Given the description of an element on the screen output the (x, y) to click on. 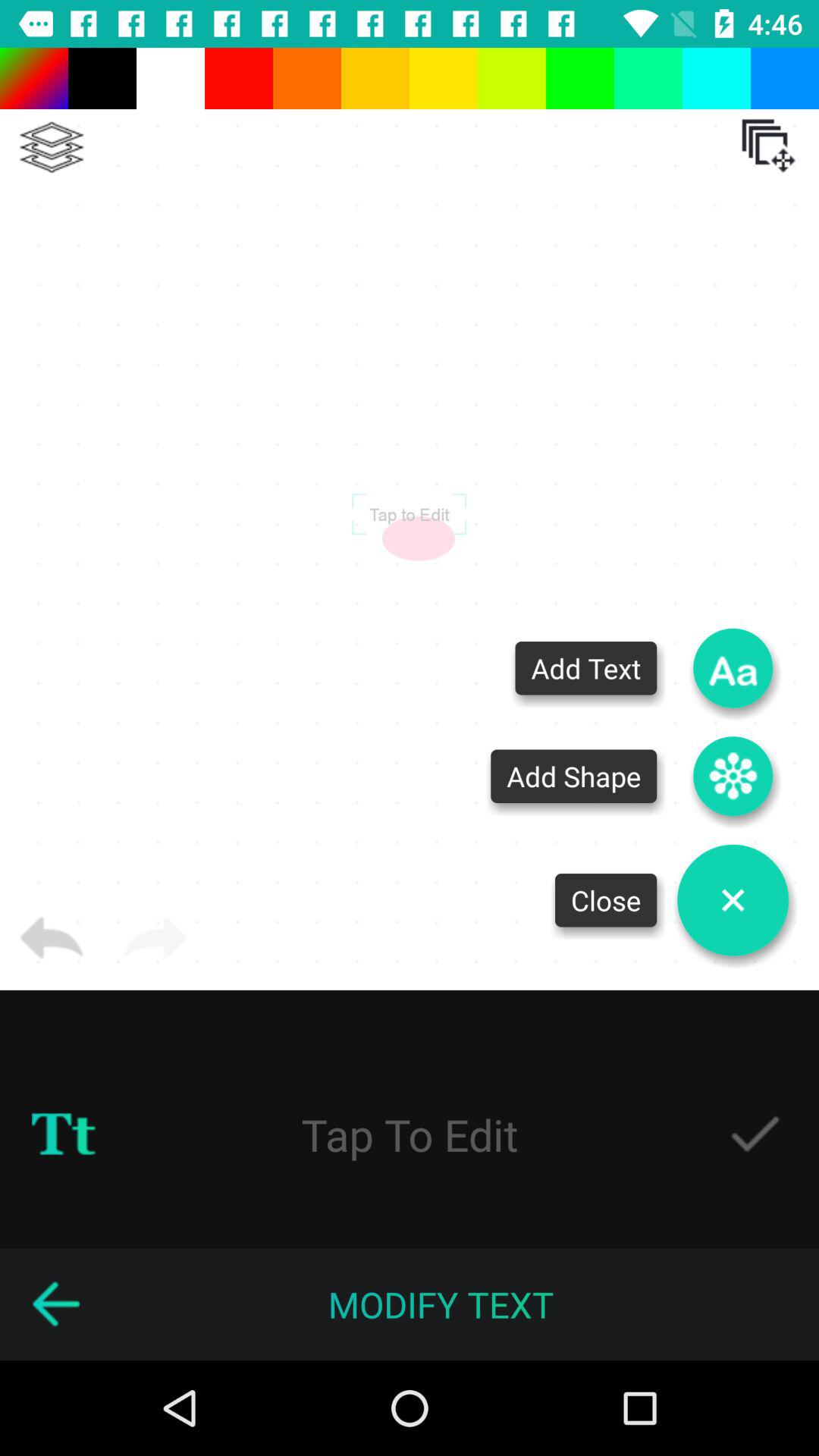
close editor (733, 900)
